Given the description of an element on the screen output the (x, y) to click on. 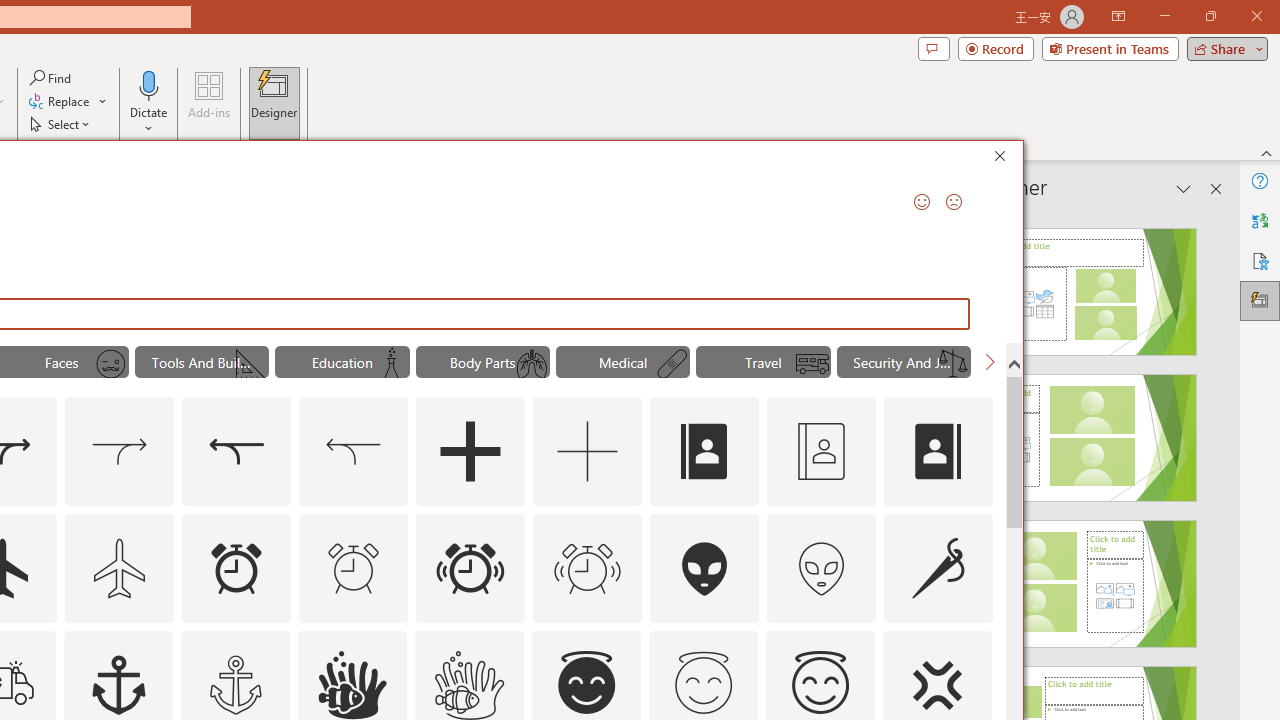
AutomationID: Icons_AdhesiveBandage_M (671, 364)
"Education" Icons. (342, 362)
AutomationID: Icons_AlterationsTailoring (938, 568)
AutomationID: Icons_Airplane_M (120, 568)
